Given the description of an element on the screen output the (x, y) to click on. 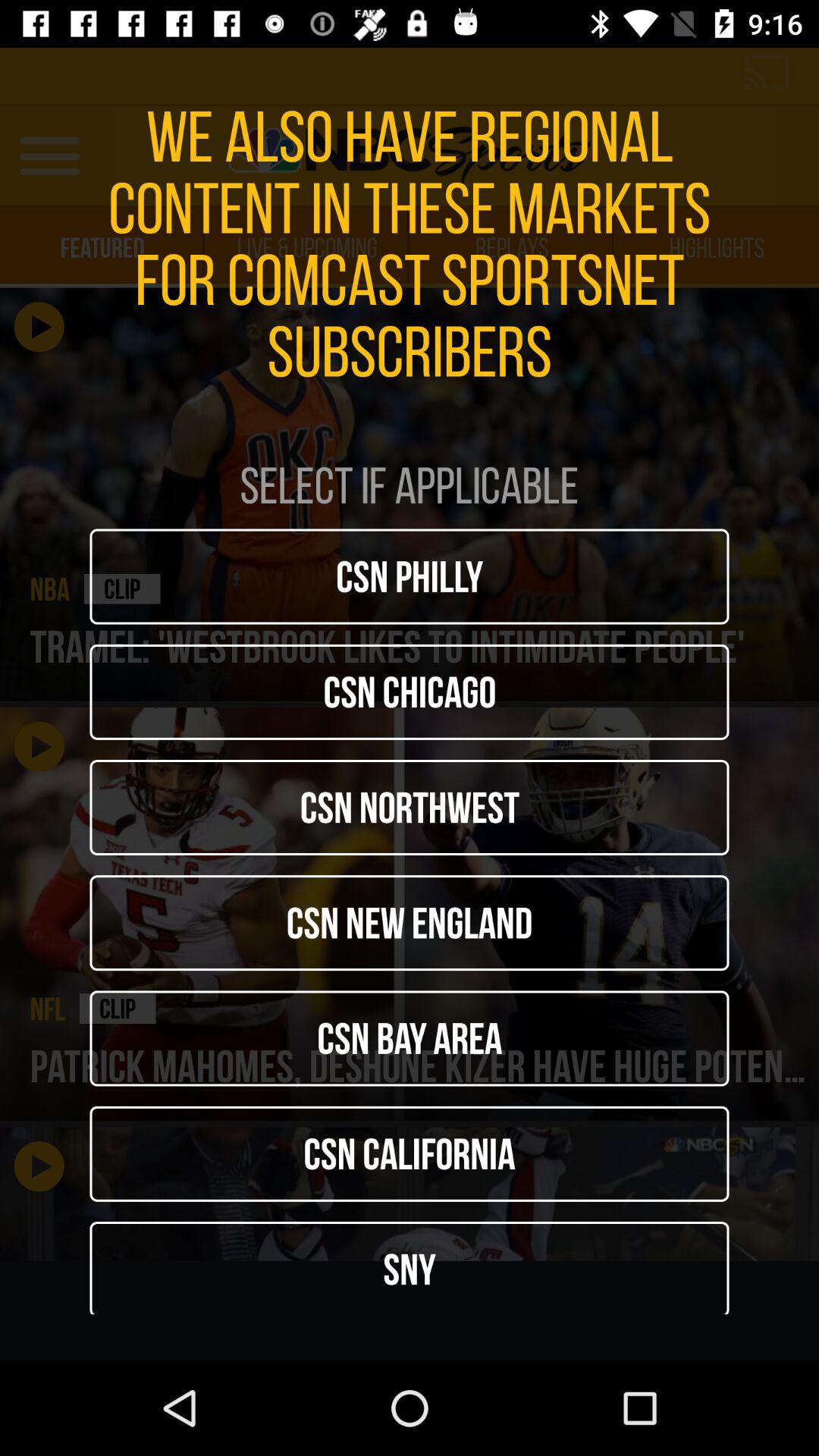
tap the icon below csn california icon (409, 1267)
